Given the description of an element on the screen output the (x, y) to click on. 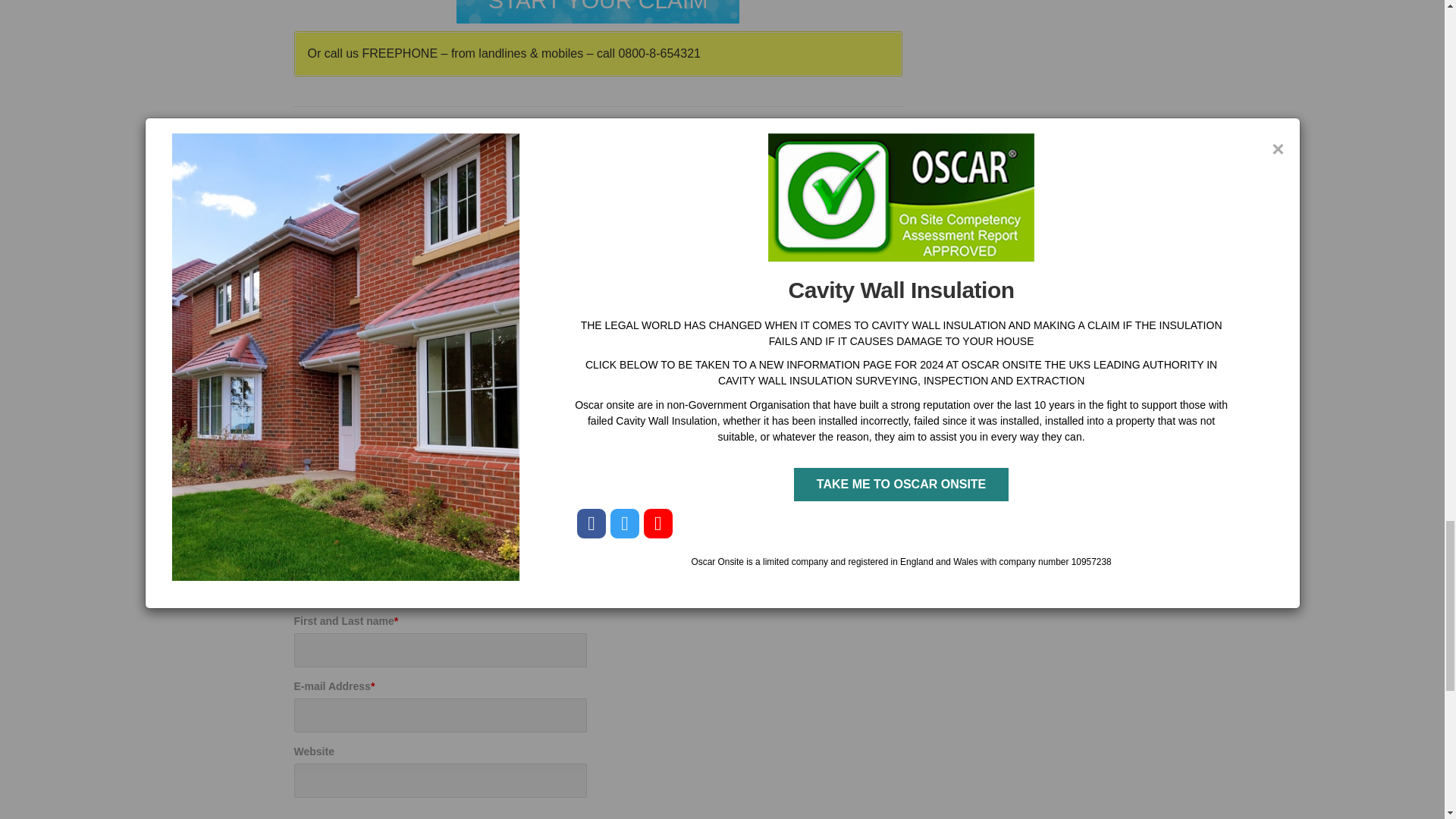
yes (299, 815)
